Given the description of an element on the screen output the (x, y) to click on. 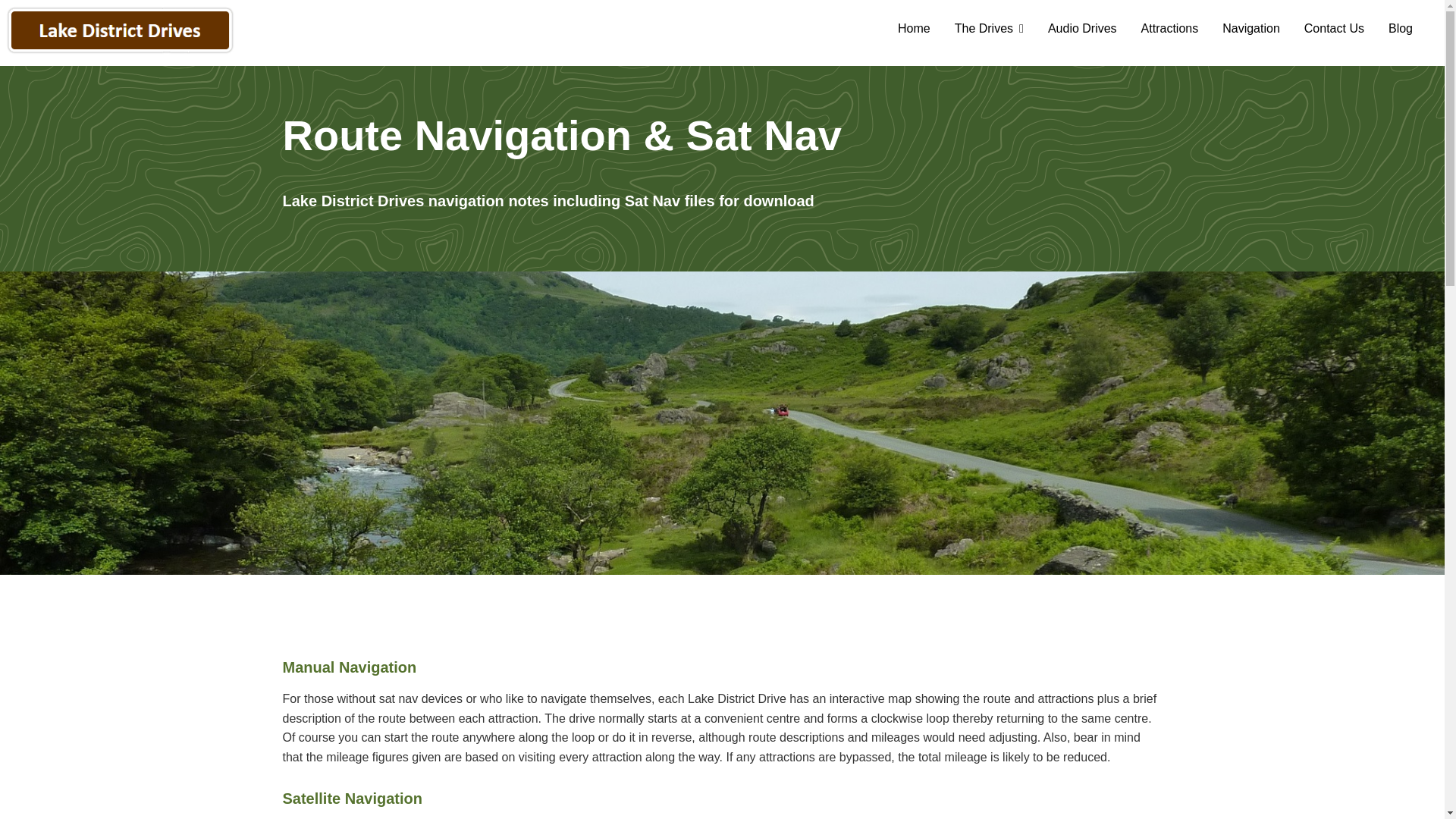
Attractions (1170, 28)
Blog (1400, 28)
Home (913, 28)
Contact Us (1333, 28)
Audio Drives (1082, 28)
The Drives (988, 28)
Navigation (1250, 28)
